Given the description of an element on the screen output the (x, y) to click on. 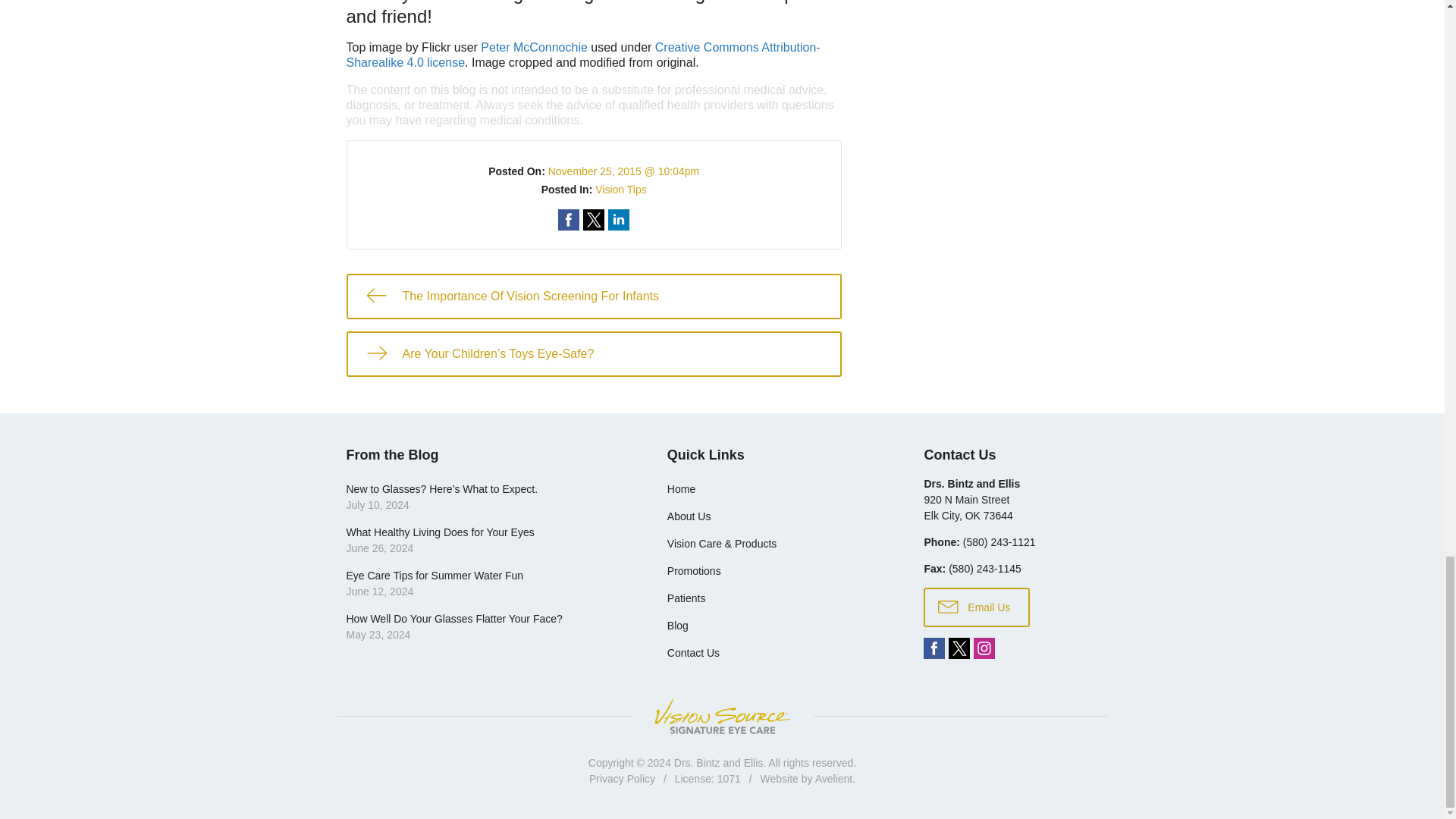
Go to our Facebook Page (933, 648)
Share on LinkedIn (618, 219)
Creative Commons Attribution-Sharealike 4.0 license (582, 54)
Share on LinkedIn (618, 219)
Vision Tips (620, 189)
Powered by Avelient (834, 778)
Go to our Instagram Page (984, 648)
Share on Facebook (568, 219)
Open this address in Google Maps (967, 507)
The Importance Of Vision Screening For Infants (593, 296)
Go to our Twitter Account (959, 648)
Share on Twitter (593, 219)
Peter McConnochie (534, 47)
Share on Twitter (593, 219)
Share on Facebook (568, 219)
